Given the description of an element on the screen output the (x, y) to click on. 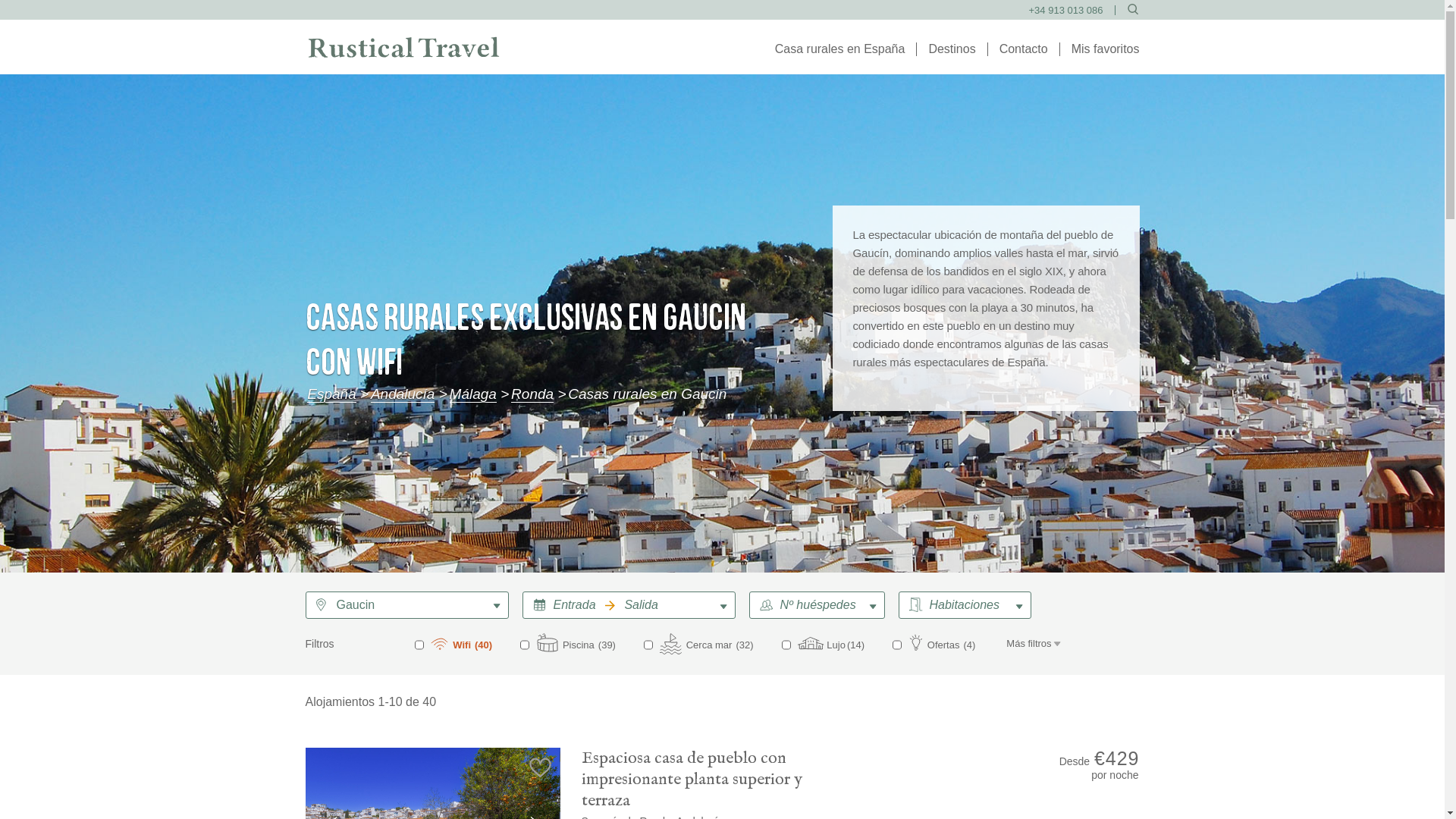
Favorites (1105, 48)
Gaucin (409, 605)
Contacto (1023, 48)
Destinos (951, 48)
Mis favoritos (1105, 48)
Ronda (532, 393)
